Given the description of an element on the screen output the (x, y) to click on. 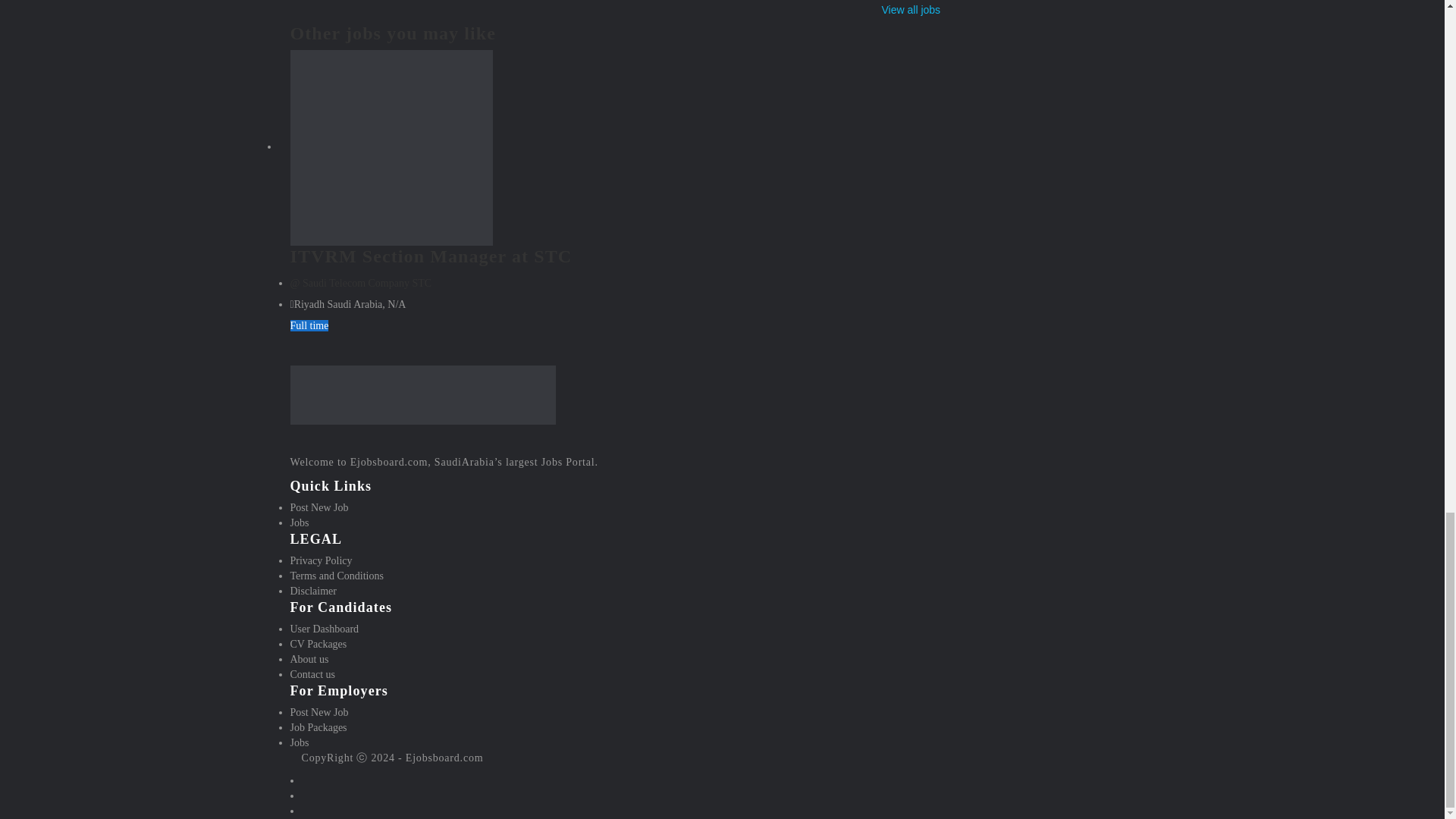
ITVRM Section Manager at STC (430, 256)
ITVRM Section Manager at STC (430, 256)
Full time (309, 325)
Data Enablement Platforms Assistant Manager at STC (910, 9)
